Given the description of an element on the screen output the (x, y) to click on. 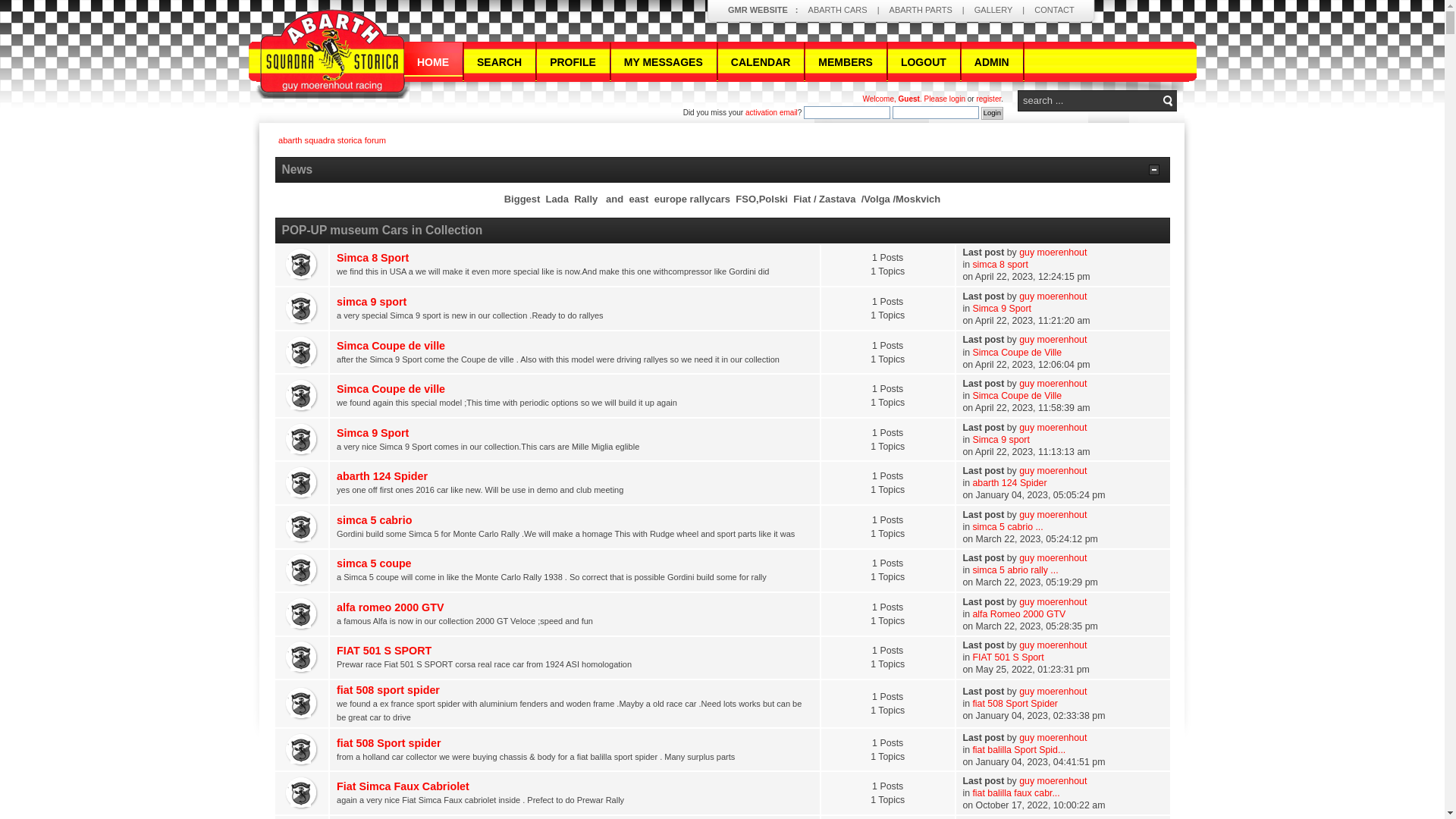
No New Posts Element type: hover (301, 308)
Simca Coupe de ville Element type: text (390, 345)
guy moerenhout Element type: text (1052, 470)
No New Posts Element type: hover (301, 264)
Login Element type: text (992, 112)
guy moerenhout Element type: text (1052, 691)
guy moerenhout Element type: text (1052, 780)
Simca Coupe de ville Element type: text (390, 388)
fiat 508 sport spider Element type: text (387, 690)
simca 8 sport Element type: text (999, 264)
No New Posts Element type: hover (301, 792)
simca 5 cabrio ... Element type: text (1007, 526)
CONTACT Element type: text (1053, 9)
Simca 8 Sport Element type: text (372, 257)
guy moerenhout Element type: text (1052, 383)
fiat 508 Sport Spider Element type: text (1014, 703)
guy moerenhout Element type: text (1052, 645)
guy moerenhout Element type: text (1052, 339)
guy moerenhout Element type: text (1052, 557)
alfa romeo 2000 GTV Element type: text (389, 607)
No New Posts Element type: hover (301, 613)
No New Posts Element type: hover (301, 569)
SEARCH Element type: text (499, 62)
GMR WEBSITE Element type: text (757, 9)
ADMIN Element type: text (991, 62)
simca 5 cabrio Element type: text (373, 520)
abarth squadra storica forum Element type: text (331, 139)
No New Posts Element type: hover (301, 749)
No New Posts Element type: hover (301, 395)
GALLERY Element type: text (993, 9)
Simca 9 Sport Element type: text (372, 432)
Simca Coupe de Ville Element type: text (1016, 395)
Simca Coupe de Ville Element type: text (1016, 352)
LOGOUT Element type: text (924, 62)
guy moerenhout Element type: text (1052, 737)
fiat balilla Sport Spid... Element type: text (1018, 749)
FIAT 501 S SPORT Element type: text (383, 650)
alfa Romeo 2000 GTV Element type: text (1018, 613)
HOME Element type: text (433, 62)
No New Posts Element type: hover (301, 482)
No New Posts Element type: hover (301, 439)
guy moerenhout Element type: text (1052, 601)
CALENDAR Element type: text (761, 62)
No New Posts Element type: hover (301, 657)
fiat 508 Sport spider Element type: text (388, 743)
abarth 124 Spider Element type: text (1009, 482)
simca 5 abrio rally ... Element type: text (1014, 569)
MEMBERS Element type: text (845, 62)
simca 9 sport Element type: text (371, 301)
Fiat Simca Faux Cabriolet Element type: text (402, 786)
guy moerenhout Element type: text (1052, 296)
fiat balilla faux cabr... Element type: text (1015, 792)
ABARTH PARTS Element type: text (920, 9)
FIAT 501 S Sport Element type: text (1007, 657)
MY MESSAGES Element type: text (663, 62)
Welcome, Guest. Please Element type: text (905, 98)
abarth 124 Spider Element type: text (381, 476)
No New Posts Element type: hover (301, 352)
register Element type: text (988, 98)
ABARTH CARS Element type: text (837, 9)
guy moerenhout Element type: text (1052, 514)
PROFILE Element type: text (572, 62)
No New Posts Element type: hover (301, 526)
No New Posts Element type: hover (301, 703)
simca 5 coupe Element type: text (373, 563)
activation email Element type: text (771, 112)
guy moerenhout Element type: text (1052, 252)
Simca 9 Sport Element type: text (1001, 308)
guy moerenhout Element type: text (1052, 427)
login Element type: text (957, 98)
Simca 9 sport Element type: text (1000, 439)
Shrink or expand the header. Element type: hover (1153, 169)
